Given the description of an element on the screen output the (x, y) to click on. 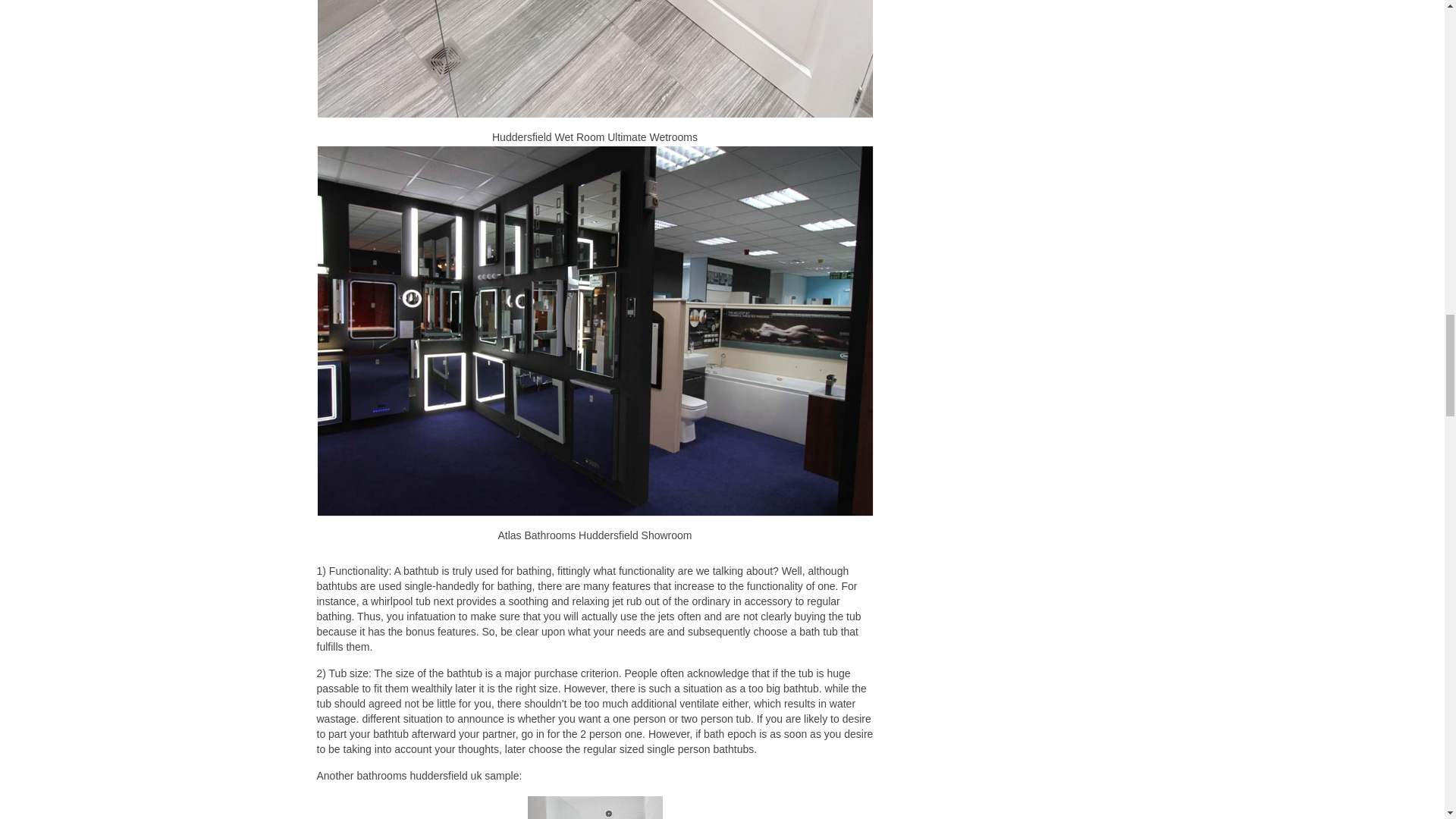
Huddersfield Wet Room Ultimate Wetrooms (595, 58)
PDM Home Projects (593, 807)
